Given the description of an element on the screen output the (x, y) to click on. 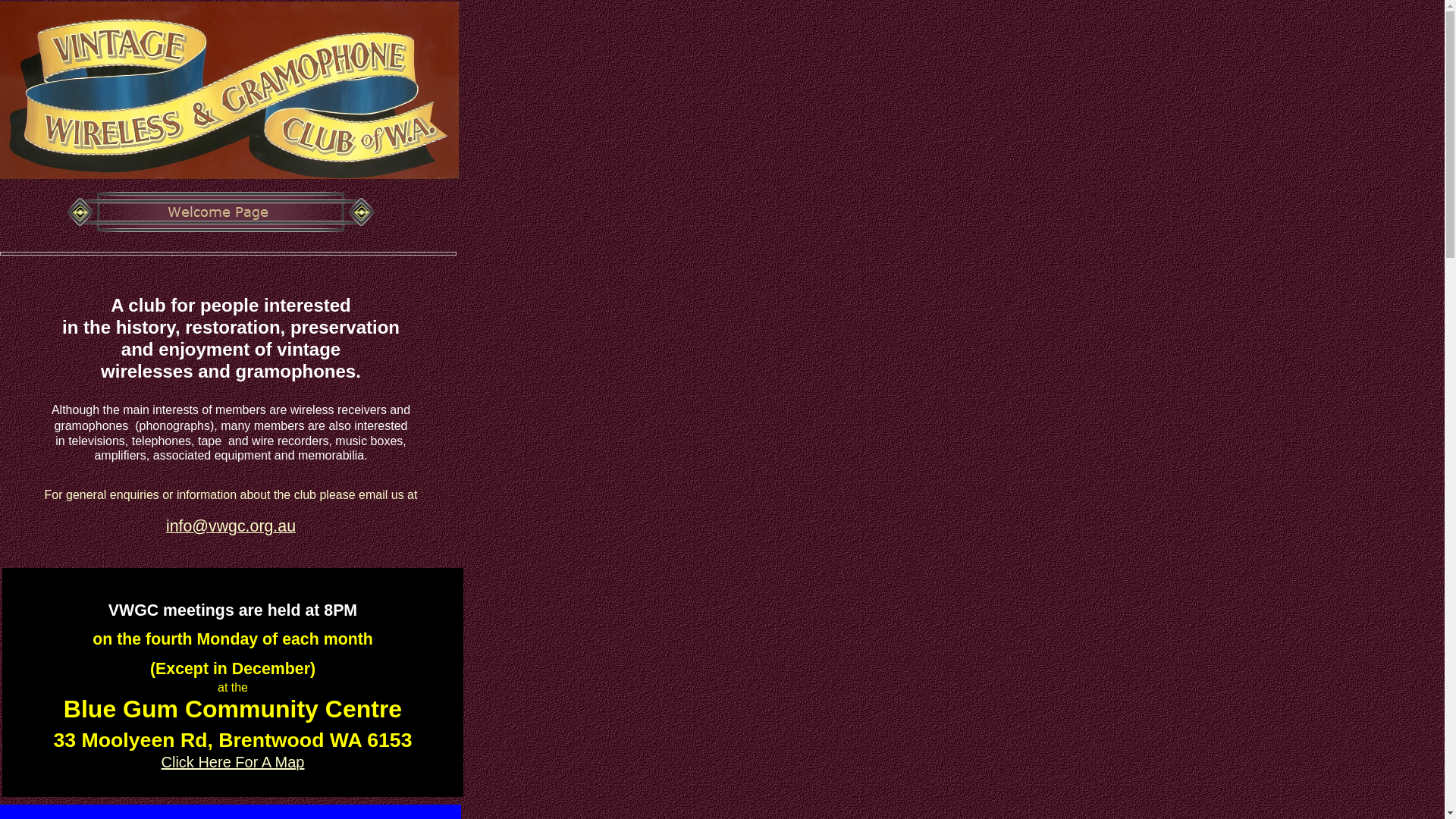
Click Here For A Map Element type: text (232, 761)
vwgc sign - 25% for NOF Element type: hover (229, 89)
Welcome Page  Element type: hover (220, 211)
info@vwgc.org.au Element type: text (230, 526)
